Given the description of an element on the screen output the (x, y) to click on. 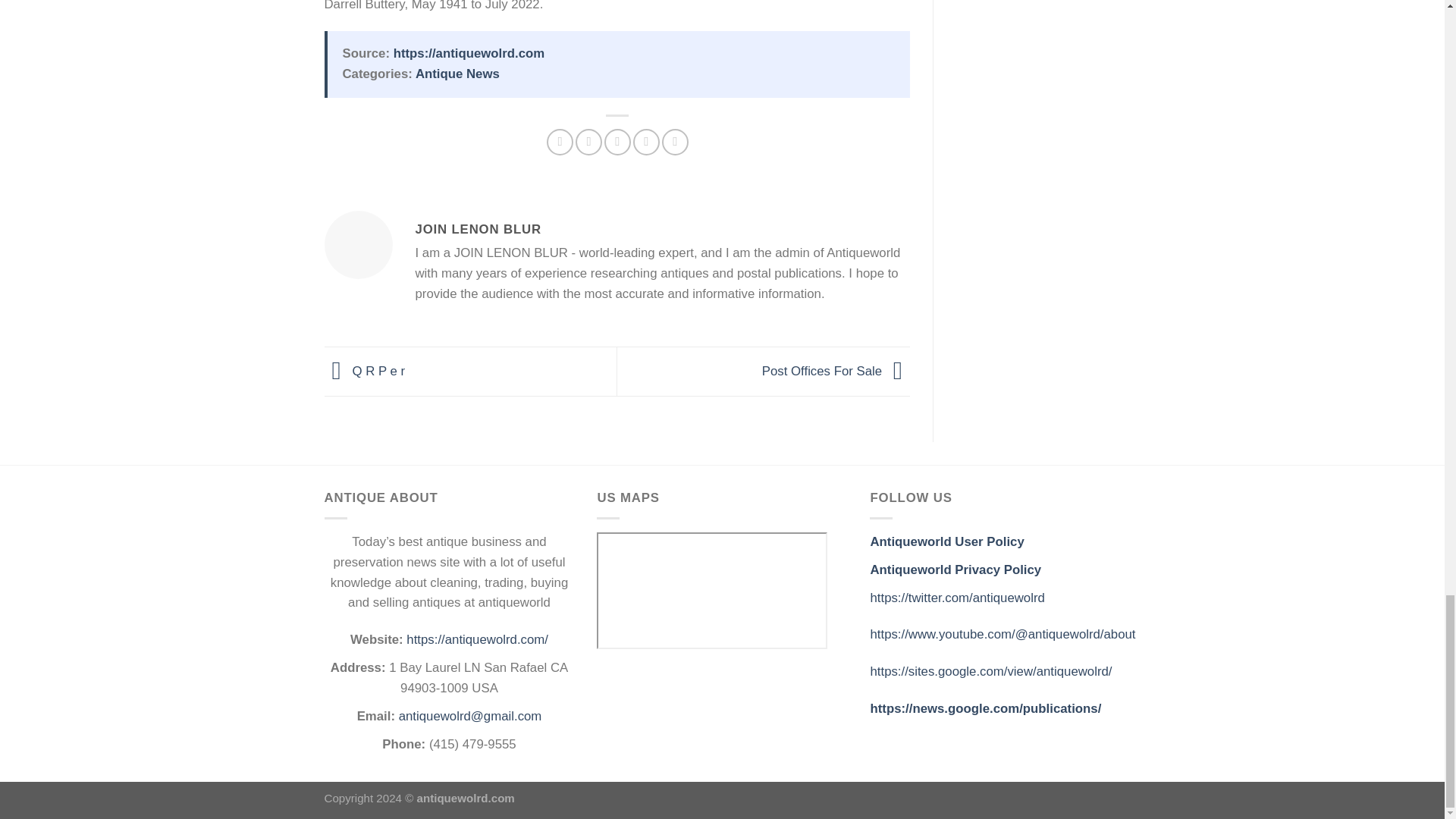
Pin on Pinterest (646, 141)
Q R P e r (365, 370)
Share on LinkedIn (675, 141)
Share on Facebook (560, 141)
Share on Twitter (588, 141)
Antique News (456, 73)
Email to a Friend (617, 141)
Post Offices For Sale (835, 370)
